Given the description of an element on the screen output the (x, y) to click on. 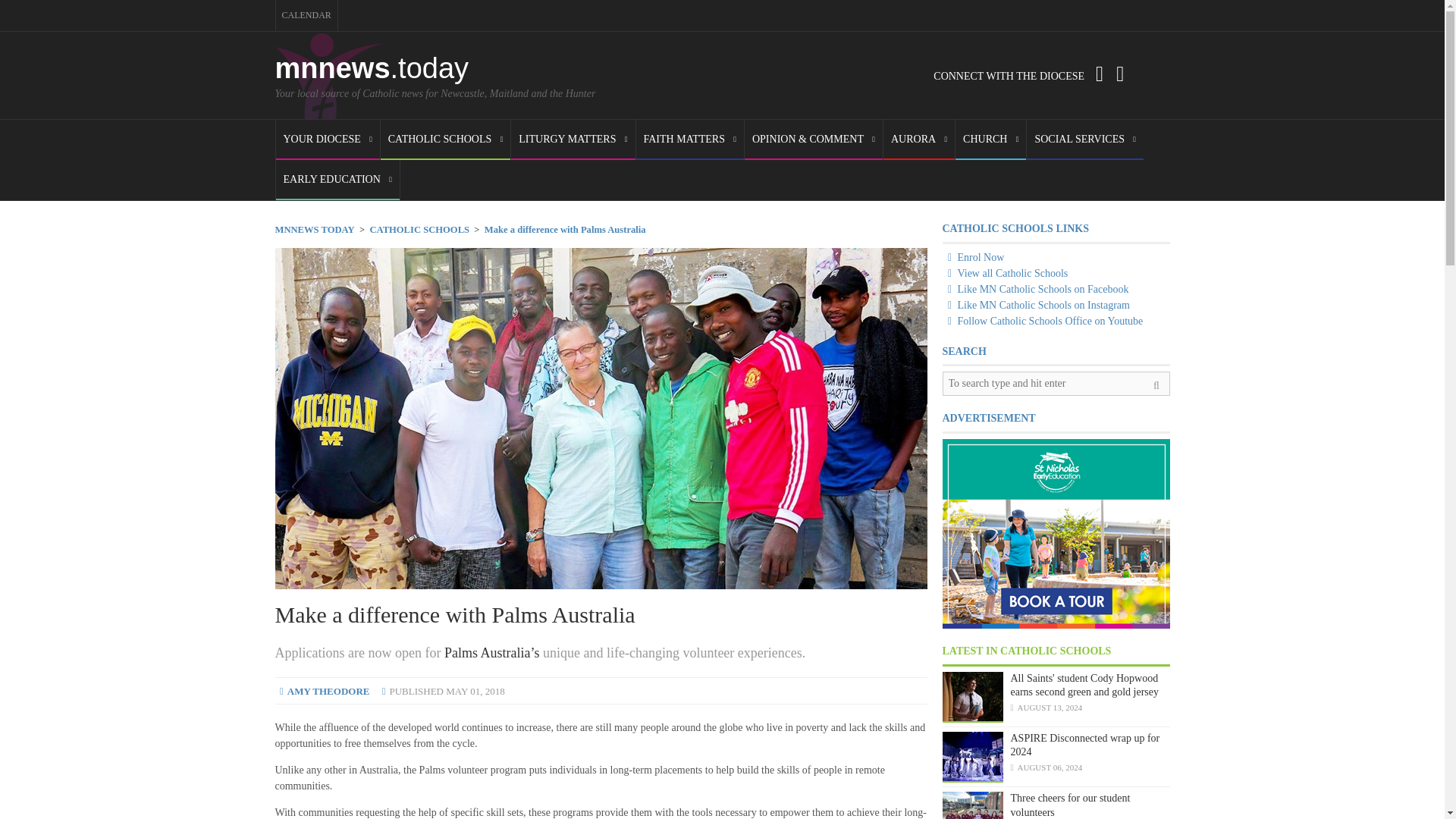
mnnews.today (371, 68)
YOUR DIOCESE (328, 139)
CATHOLIC SCHOOLS (445, 139)
CALENDAR (306, 15)
Enrol Now (973, 256)
LITURGY MATTERS (572, 139)
